Given the description of an element on the screen output the (x, y) to click on. 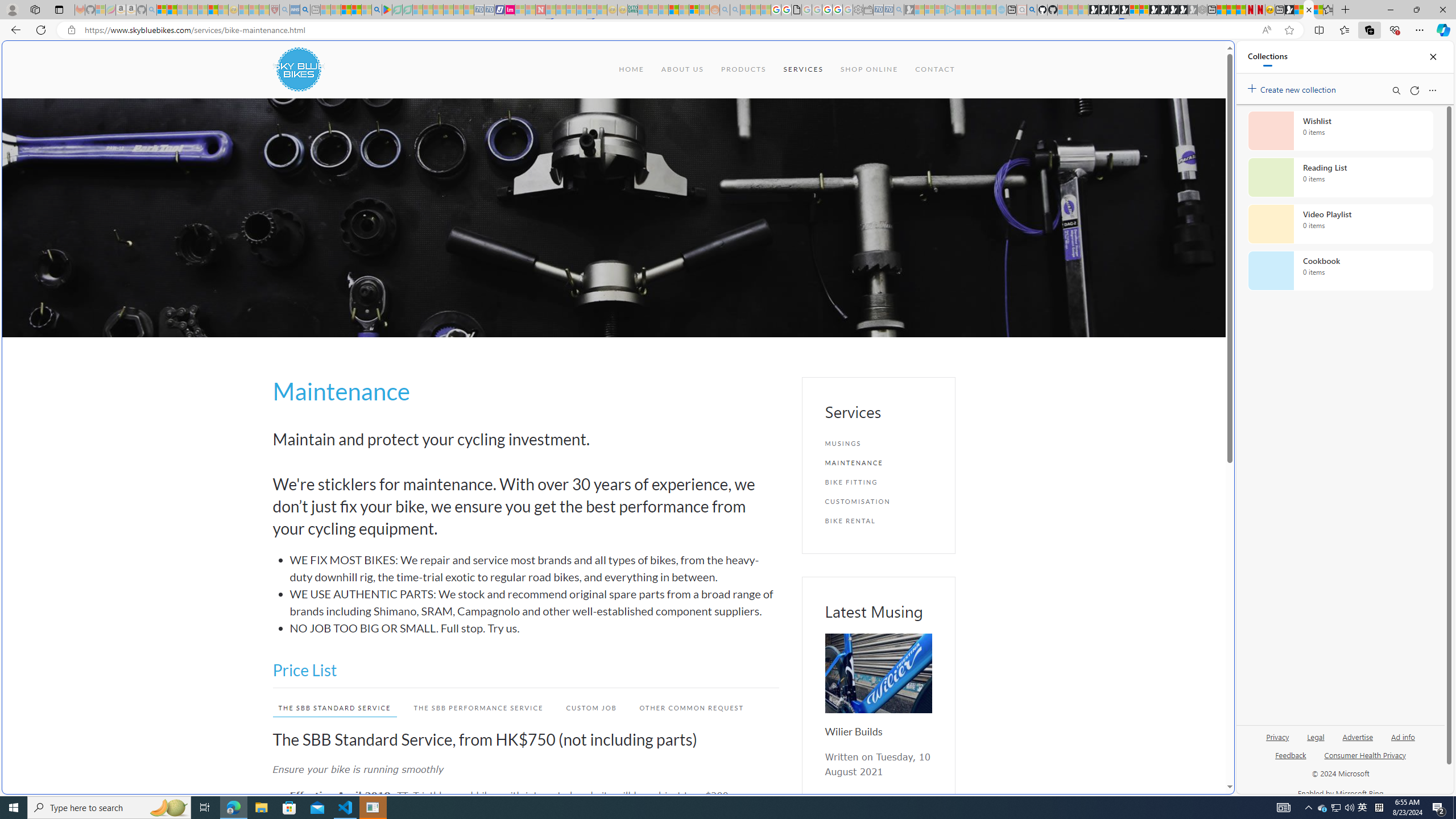
Tabs you've opened (885, 151)
Feedback (1290, 754)
The Weather Channel - MSN - Sleeping (181, 9)
BIKE FITTING (878, 481)
NCL Adult Asthma Inhaler Choice Guideline - Sleeping (294, 9)
Pets - MSN (356, 9)
Overview (1144, 9)
World - MSN (1299, 9)
Close (1432, 56)
